Given the description of an element on the screen output the (x, y) to click on. 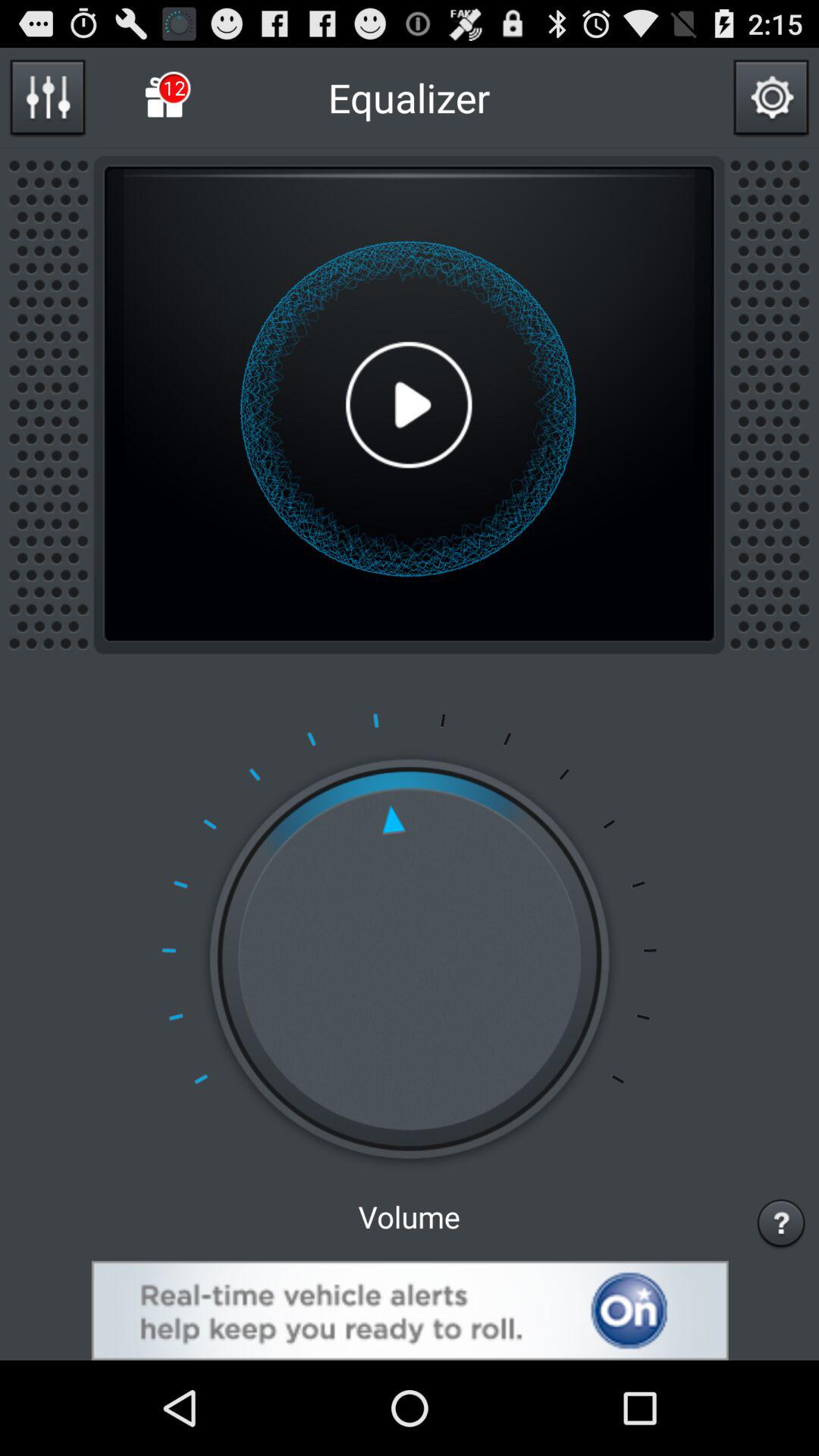
go to play option (408, 404)
